Given the description of an element on the screen output the (x, y) to click on. 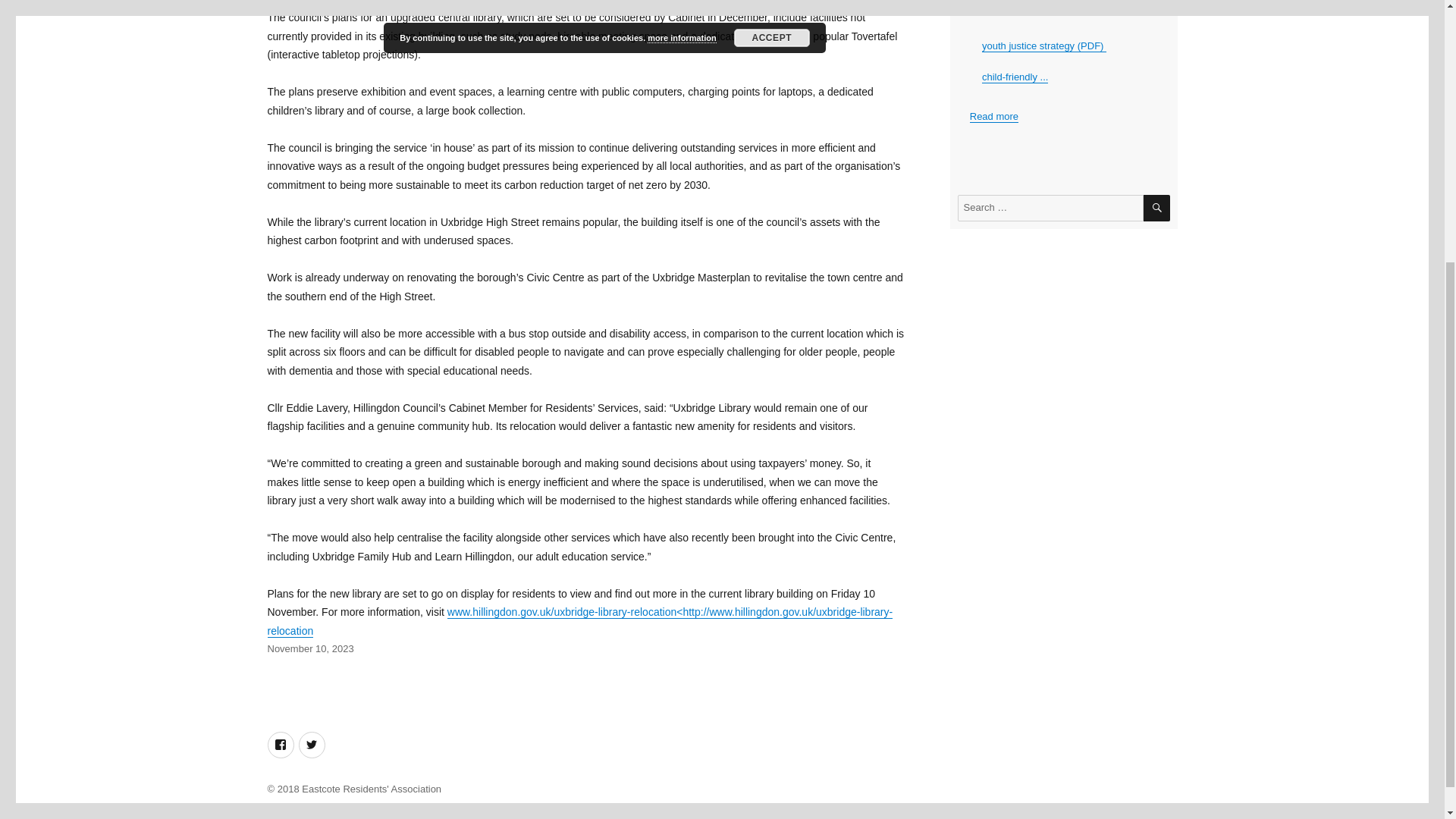
November 10, 2023 (309, 648)
